Given the description of an element on the screen output the (x, y) to click on. 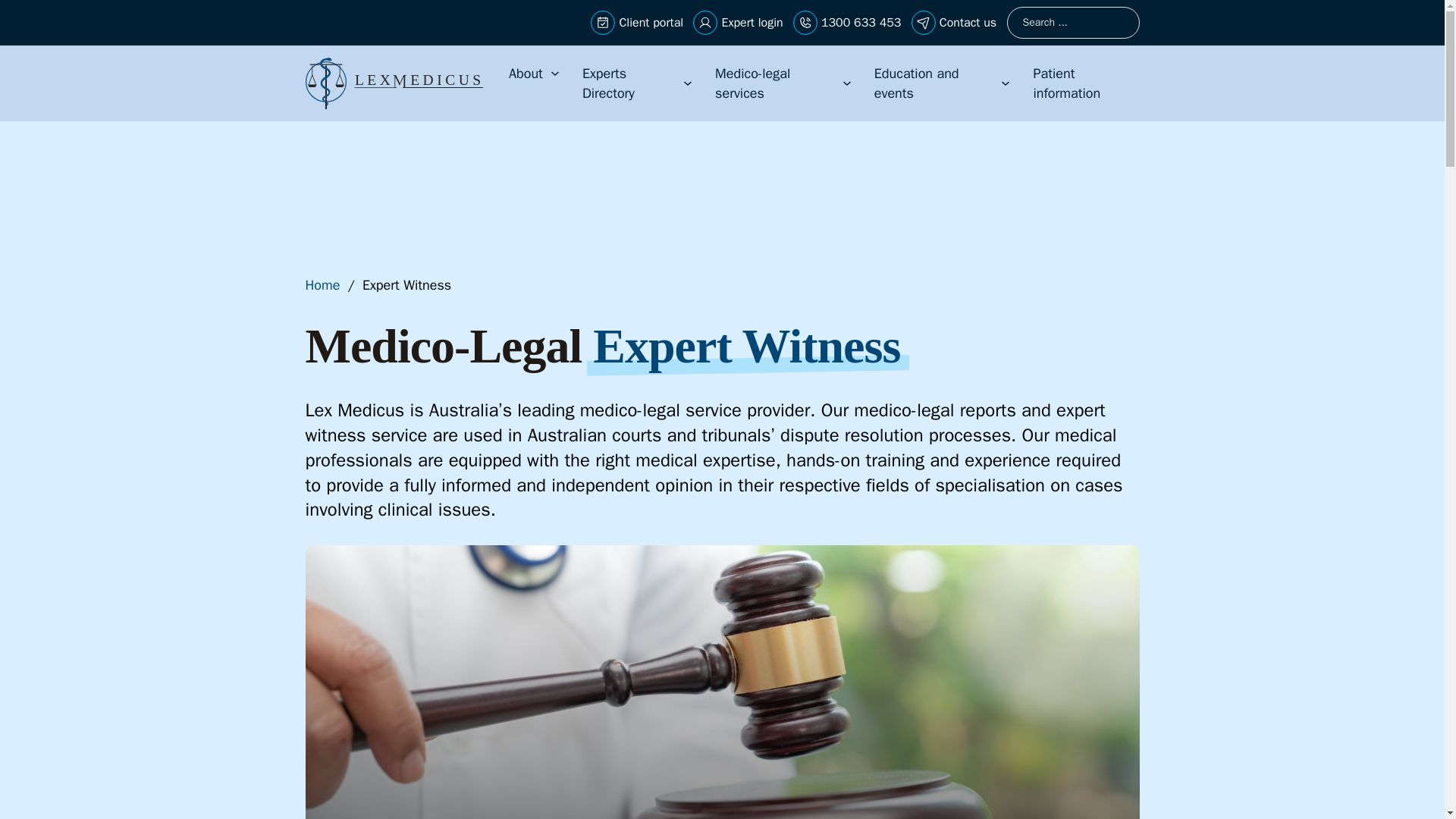
Expert login (751, 22)
Patient information (1085, 83)
Experts Directory (628, 83)
About (525, 73)
1300 633 453 (861, 22)
Client portal (650, 22)
Contact us (967, 22)
Education and events (934, 83)
Medico-legal services (774, 83)
